Given the description of an element on the screen output the (x, y) to click on. 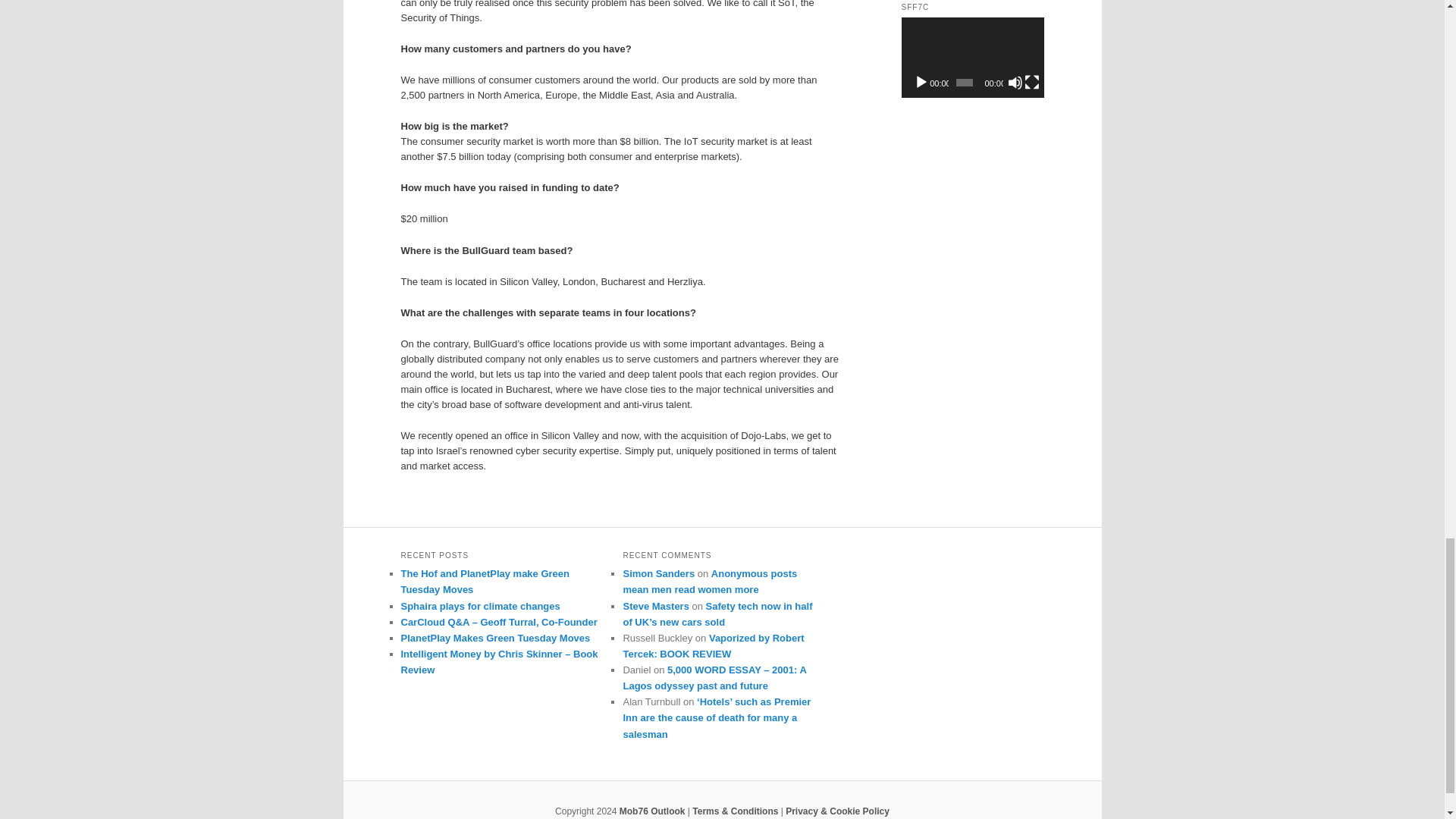
Mute (1015, 82)
Play (920, 82)
Fullscreen (1032, 82)
Mob76 Outlook (652, 810)
